Given the description of an element on the screen output the (x, y) to click on. 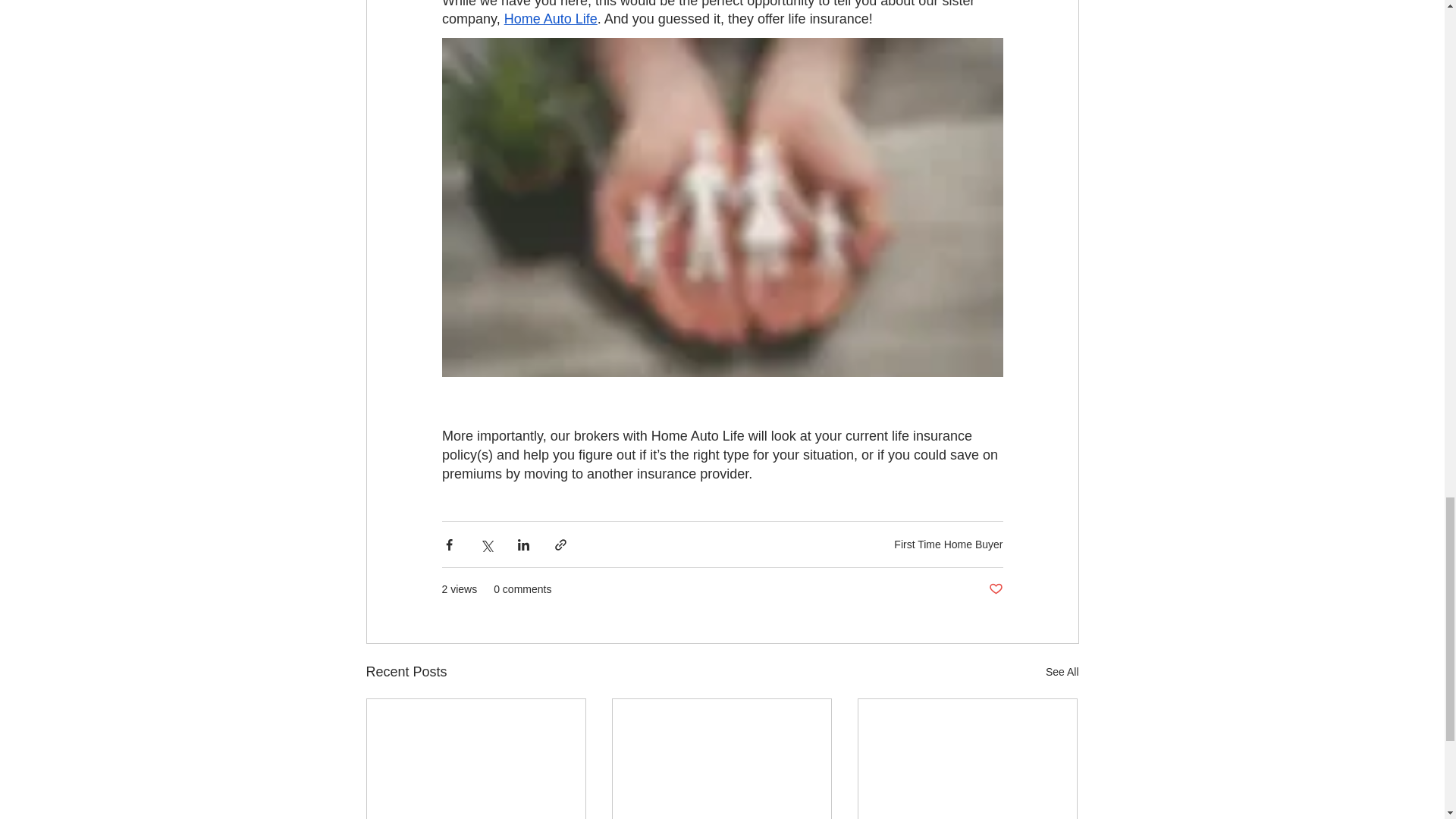
Post not marked as liked (995, 589)
First Time Home Buyer (948, 544)
Home Auto Life (549, 18)
See All (1061, 671)
